Given the description of an element on the screen output the (x, y) to click on. 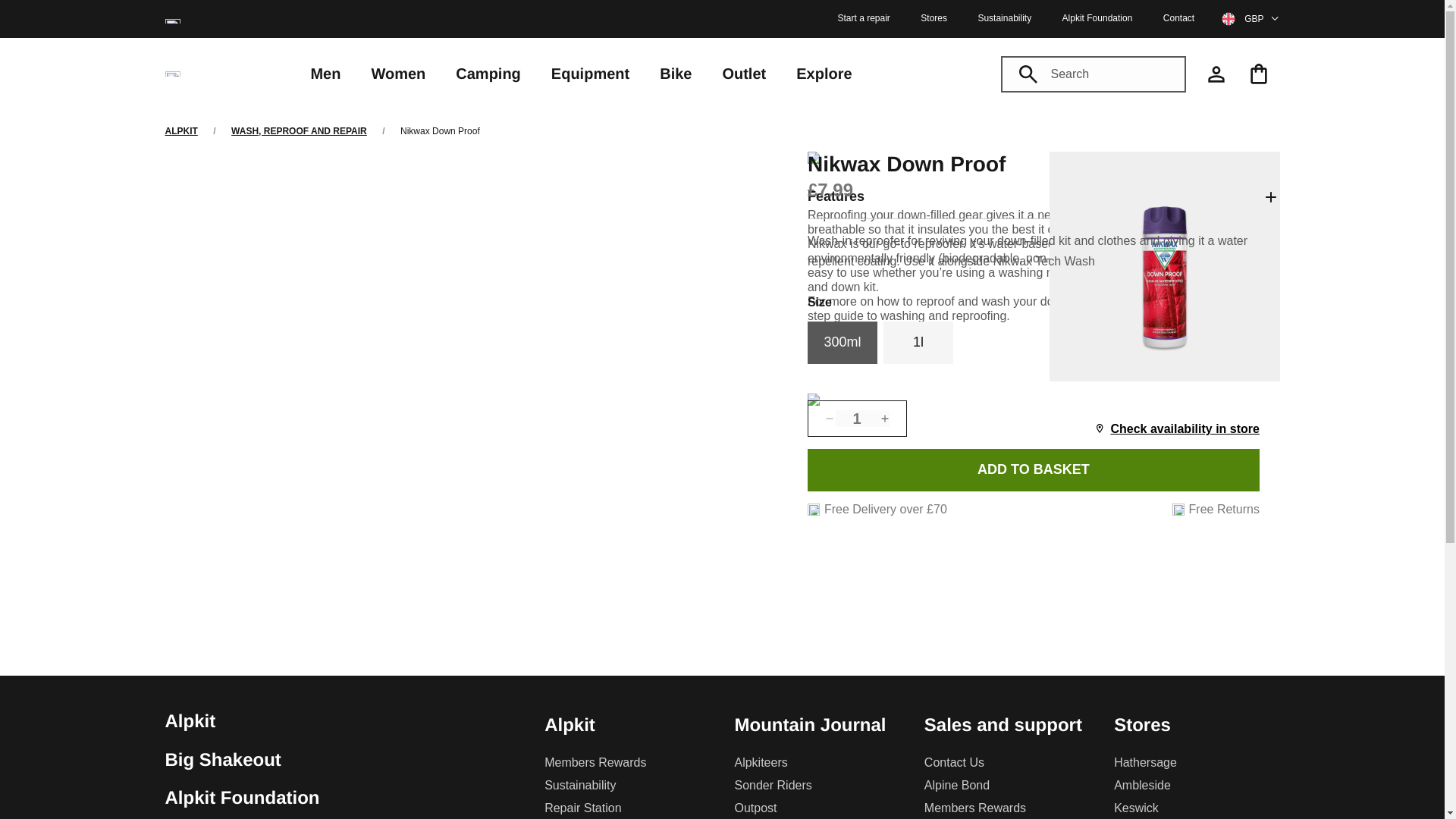
SKIP TO CONTENT (64, 7)
Sustainability (1003, 18)
Stores (933, 18)
Alpkit Foundation (1097, 18)
Alpkit (181, 131)
Start a repair (863, 18)
Contact (1178, 18)
Wash, reproof and repair (298, 131)
1 (862, 418)
